Given the description of an element on the screen output the (x, y) to click on. 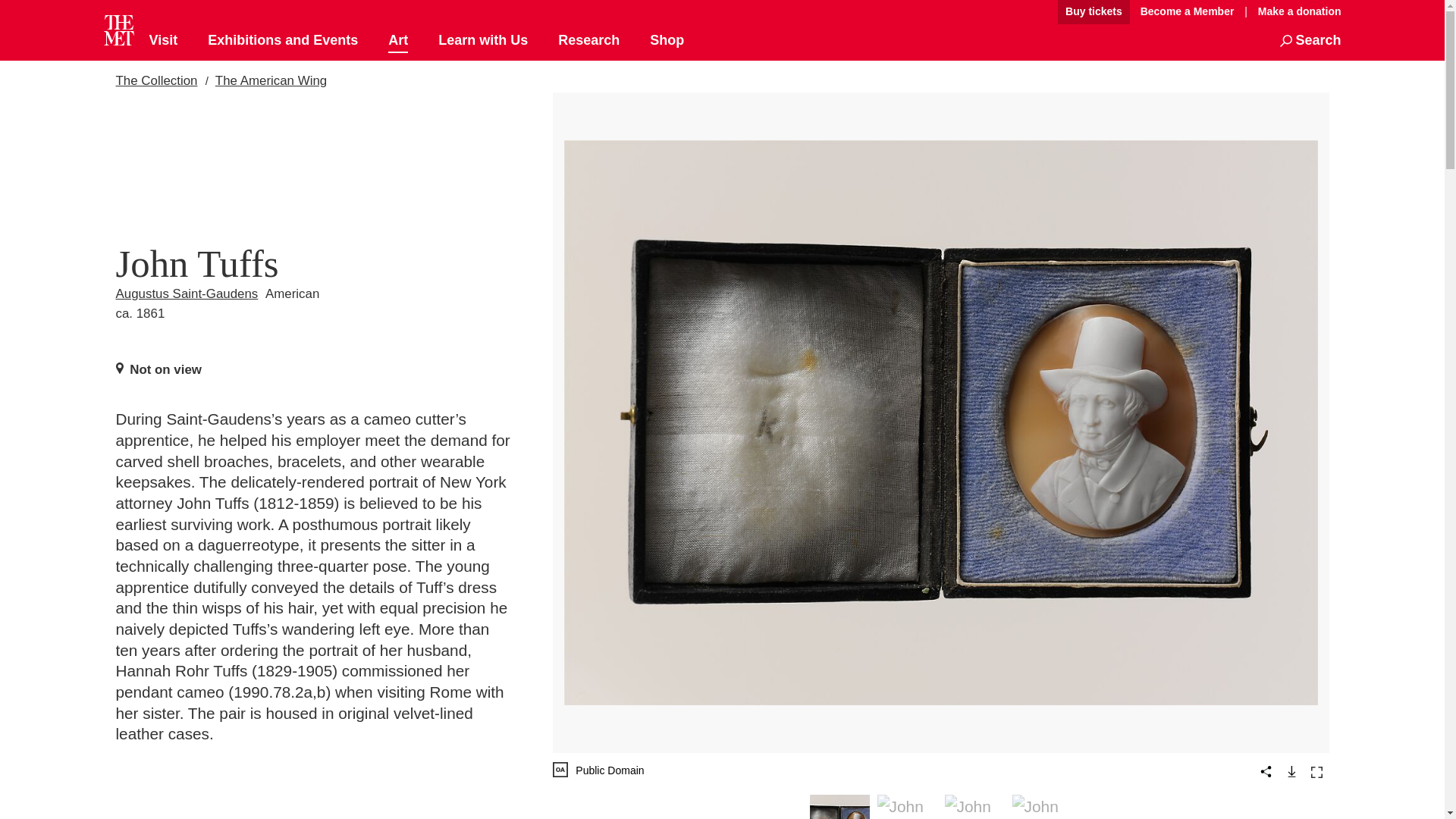
The American Wing (270, 80)
Search (1309, 41)
Learn with Us (482, 41)
Download (1291, 770)
Exhibitions and Events (283, 41)
Jump to content (1005, 12)
The Collection (155, 80)
Research (588, 41)
Search Button (1309, 41)
Visit (162, 41)
